Given the description of an element on the screen output the (x, y) to click on. 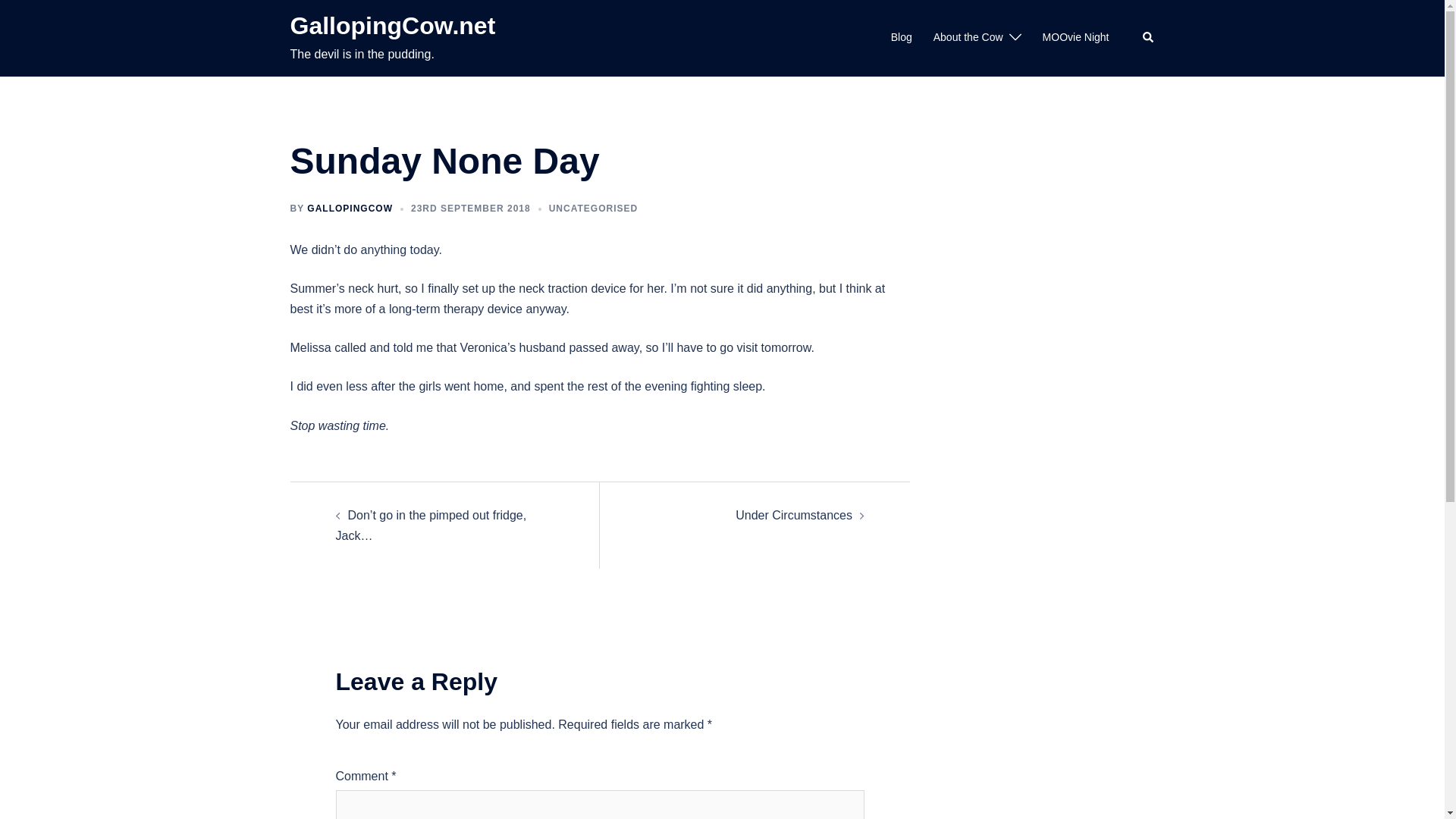
GALLOPINGCOW (350, 208)
Search (1147, 37)
23RD SEPTEMBER 2018 (470, 208)
UNCATEGORISED (592, 208)
GallopingCow.net (392, 25)
Blog (901, 37)
About the Cow (968, 37)
MOOvie Night (1075, 37)
Under Circumstances (793, 514)
